Given the description of an element on the screen output the (x, y) to click on. 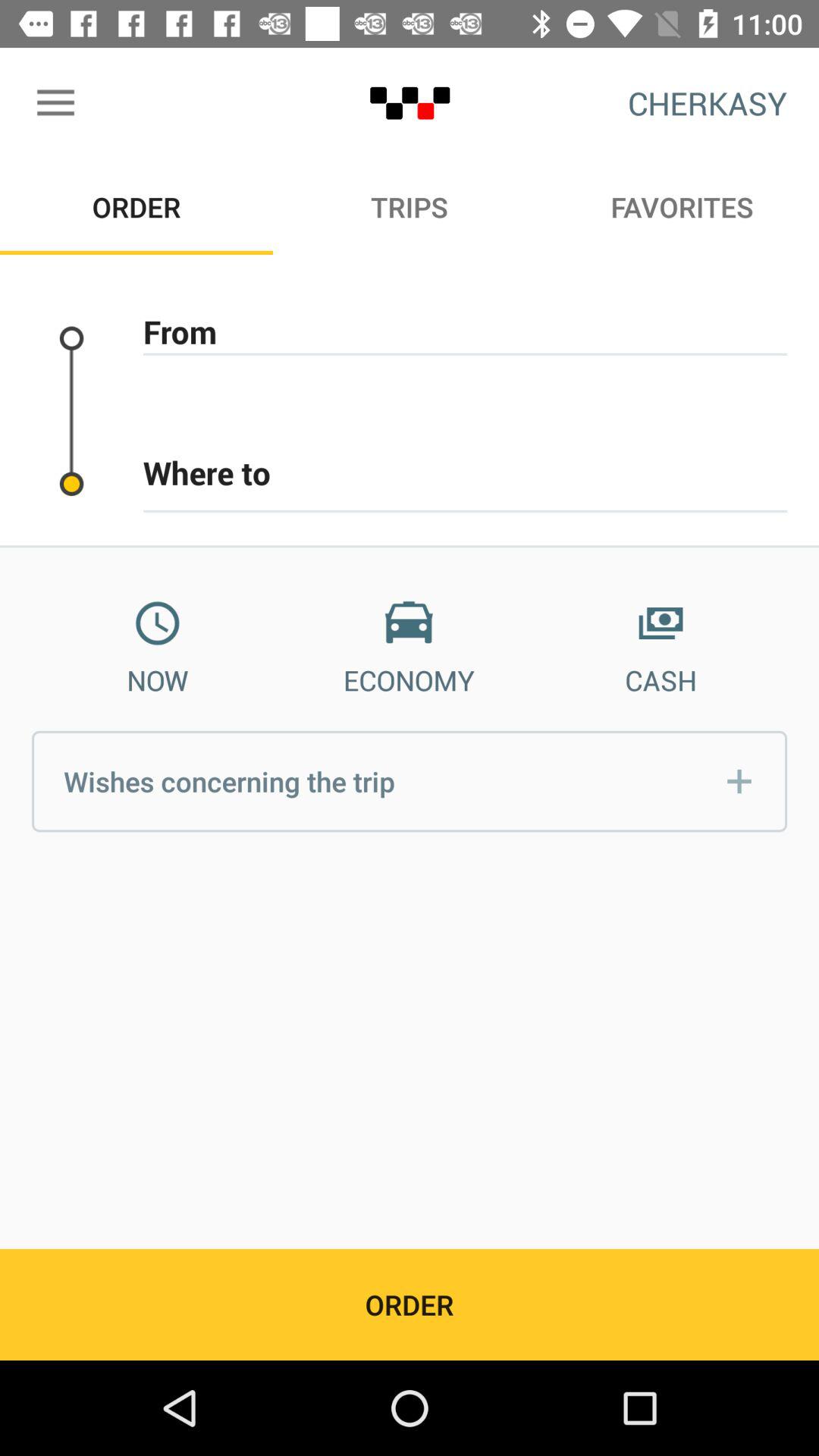
turn on cherkasy icon (707, 102)
